Given the description of an element on the screen output the (x, y) to click on. 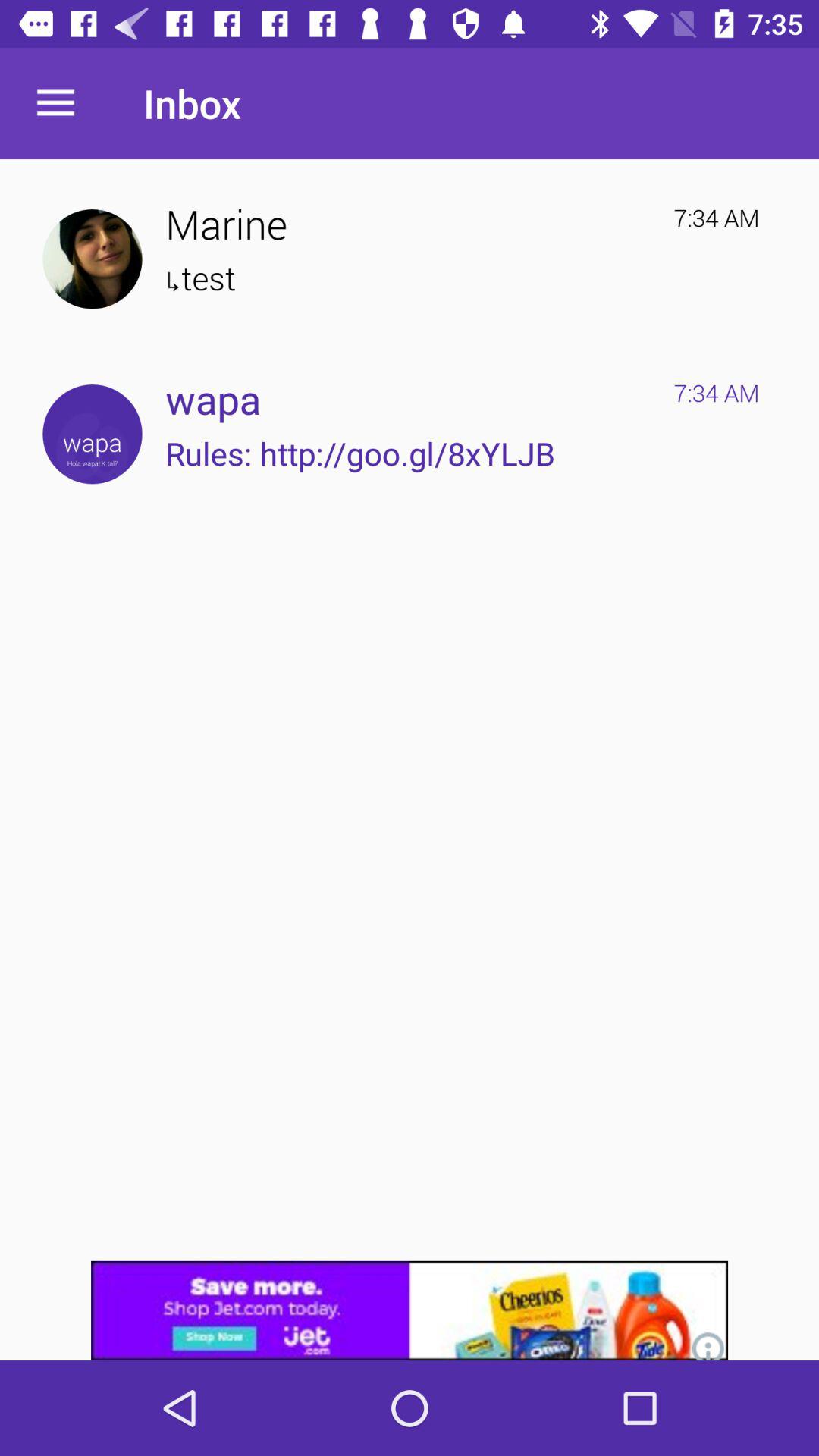
go to image (92, 258)
